Given the description of an element on the screen output the (x, y) to click on. 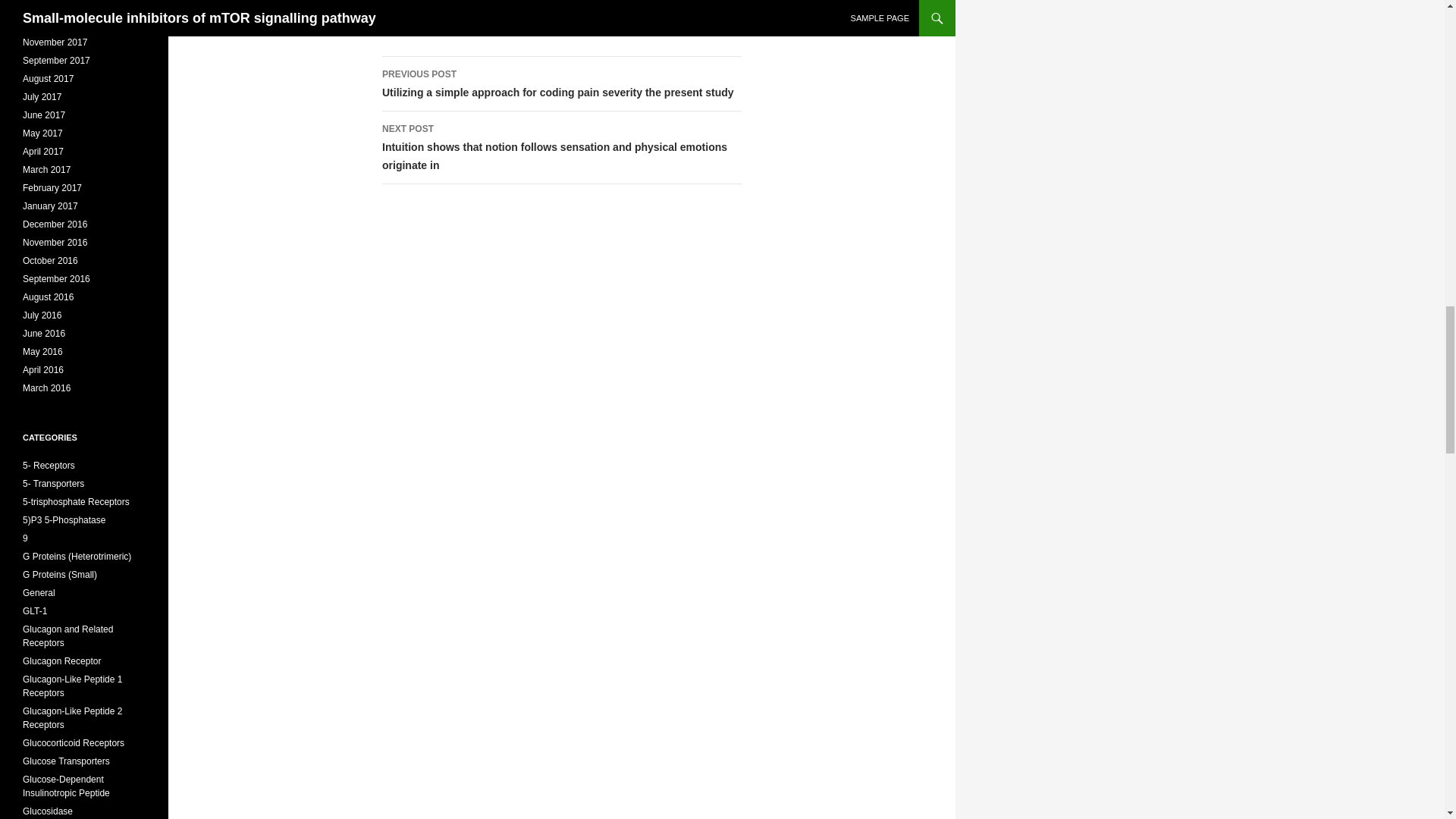
RABBIT POLYCLONAL TO AIBP. (514, 10)
GANT 58 (412, 10)
